Given the description of an element on the screen output the (x, y) to click on. 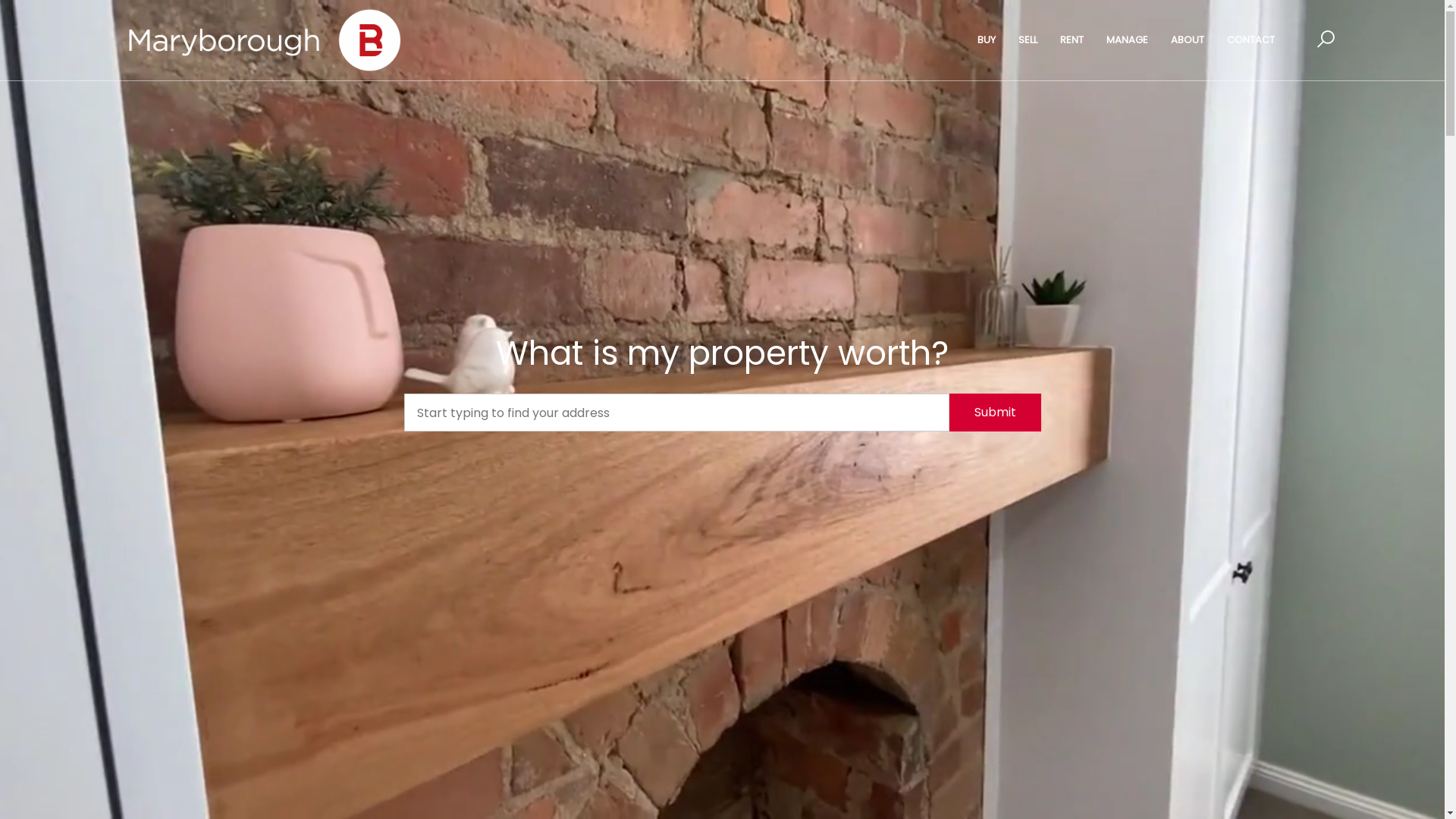
MANAGE Element type: text (1126, 40)
BUY Element type: text (986, 40)
CONTACT Element type: text (1250, 40)
RENT Element type: text (1071, 40)
SELL Element type: text (1027, 40)
Search Element type: text (953, 133)
Submit Element type: text (995, 412)
ABOUT Element type: text (1187, 40)
